Given the description of an element on the screen output the (x, y) to click on. 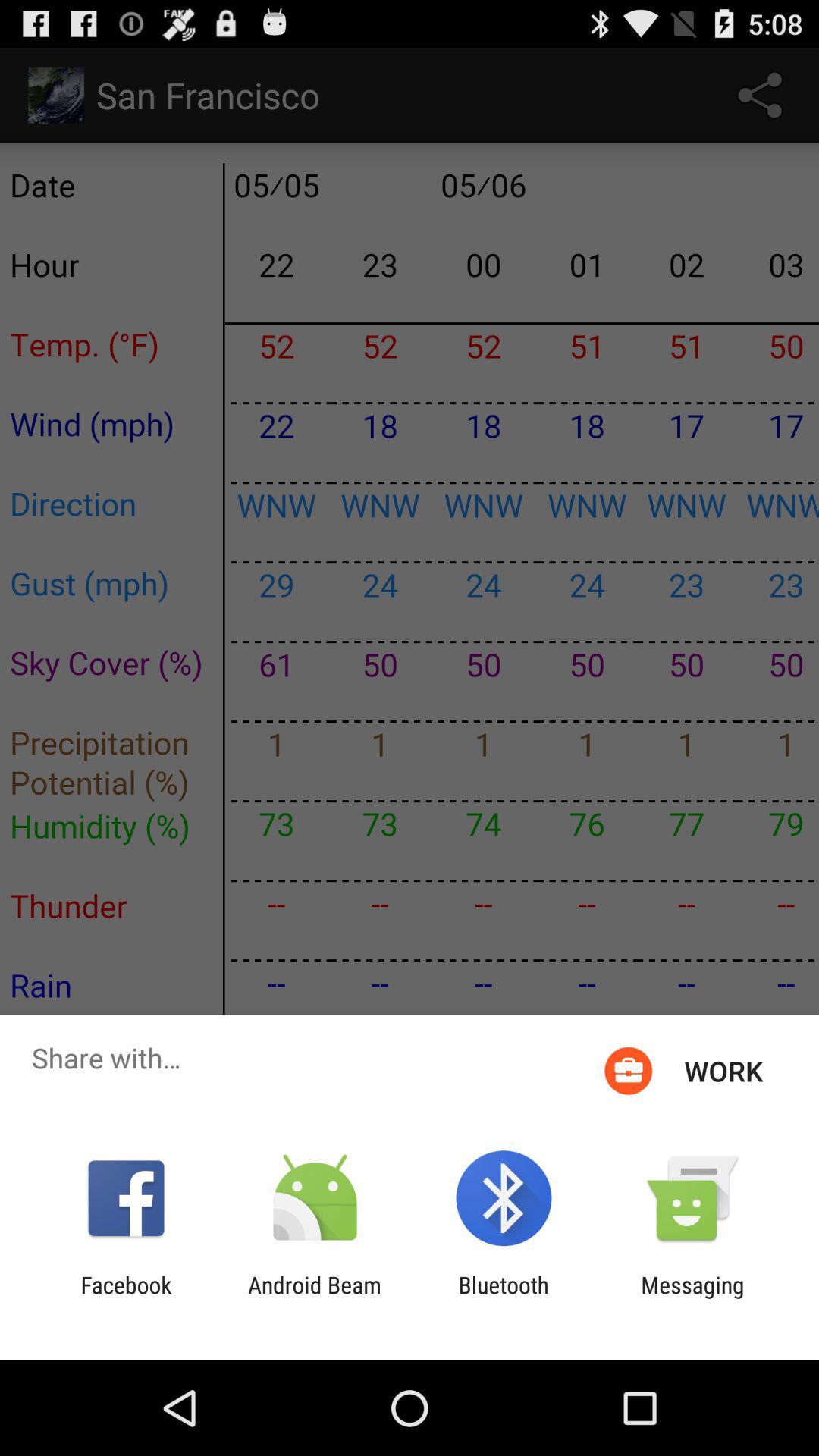
choose icon to the right of android beam app (503, 1298)
